Given the description of an element on the screen output the (x, y) to click on. 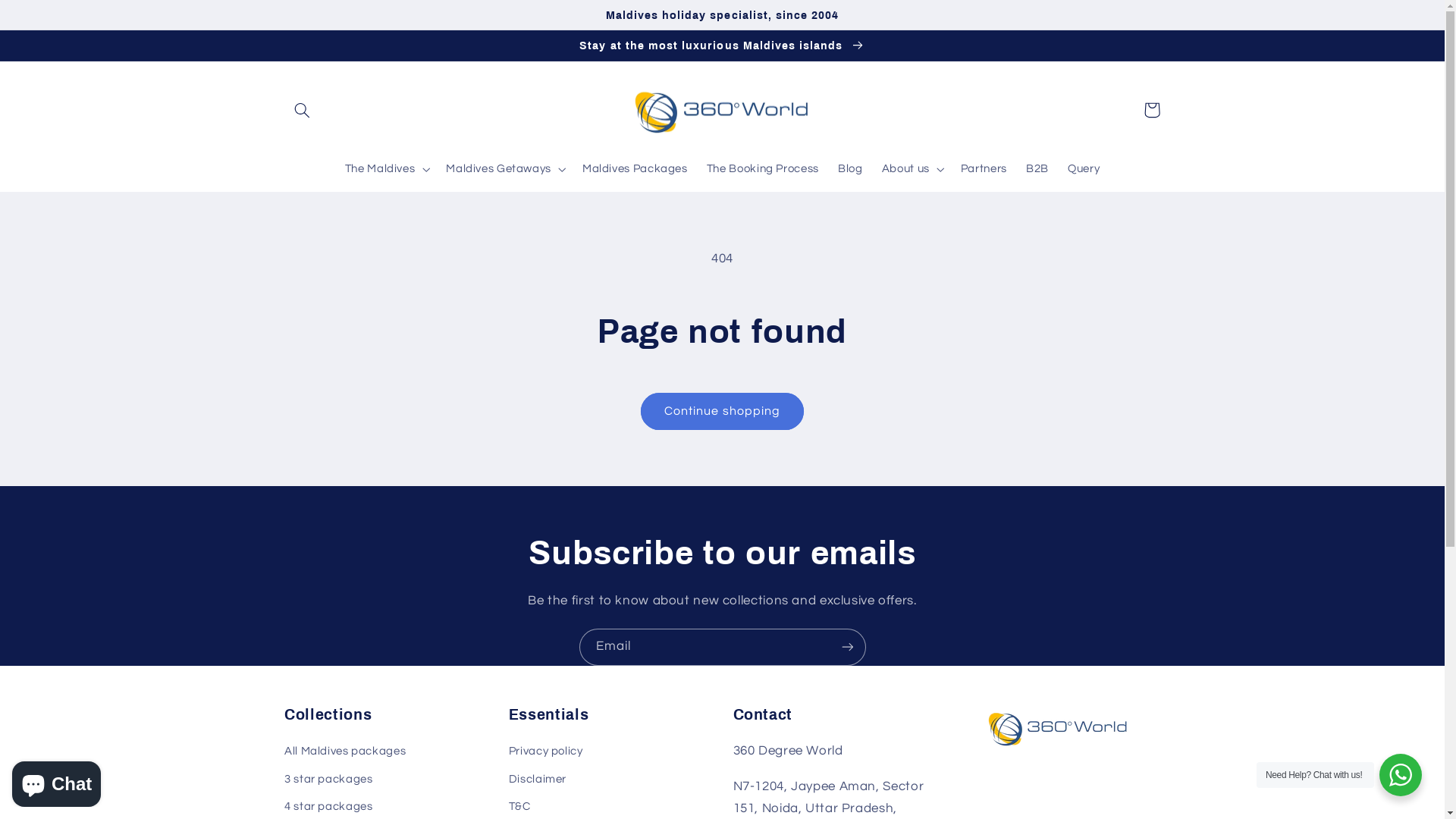
Privacy policy Element type: text (545, 753)
Partners Element type: text (983, 168)
Stay at the most luxurious Maldives islands Element type: text (722, 44)
Blog Element type: text (850, 168)
B2B Element type: text (1036, 168)
All Maldives packages Element type: text (344, 753)
3 star packages Element type: text (328, 779)
Maldives Packages Element type: text (634, 168)
Disclaimer Element type: text (537, 779)
The Booking Process Element type: text (762, 168)
Continue shopping Element type: text (722, 410)
Cart Element type: text (1151, 109)
Shopify online store chat Element type: hover (56, 780)
Query Element type: text (1082, 168)
